Given the description of an element on the screen output the (x, y) to click on. 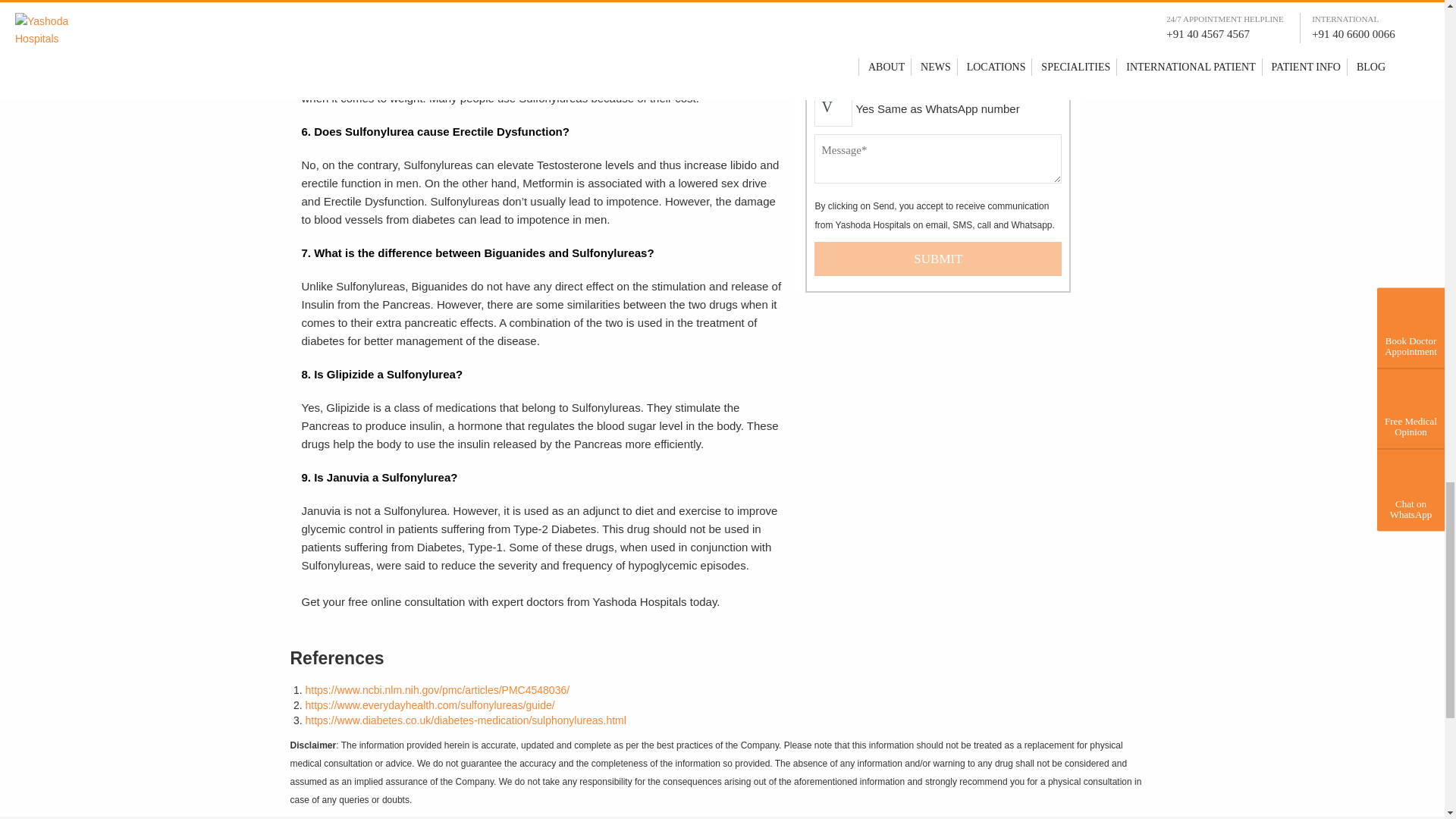
Submit (937, 258)
Yes (832, 111)
